Given the description of an element on the screen output the (x, y) to click on. 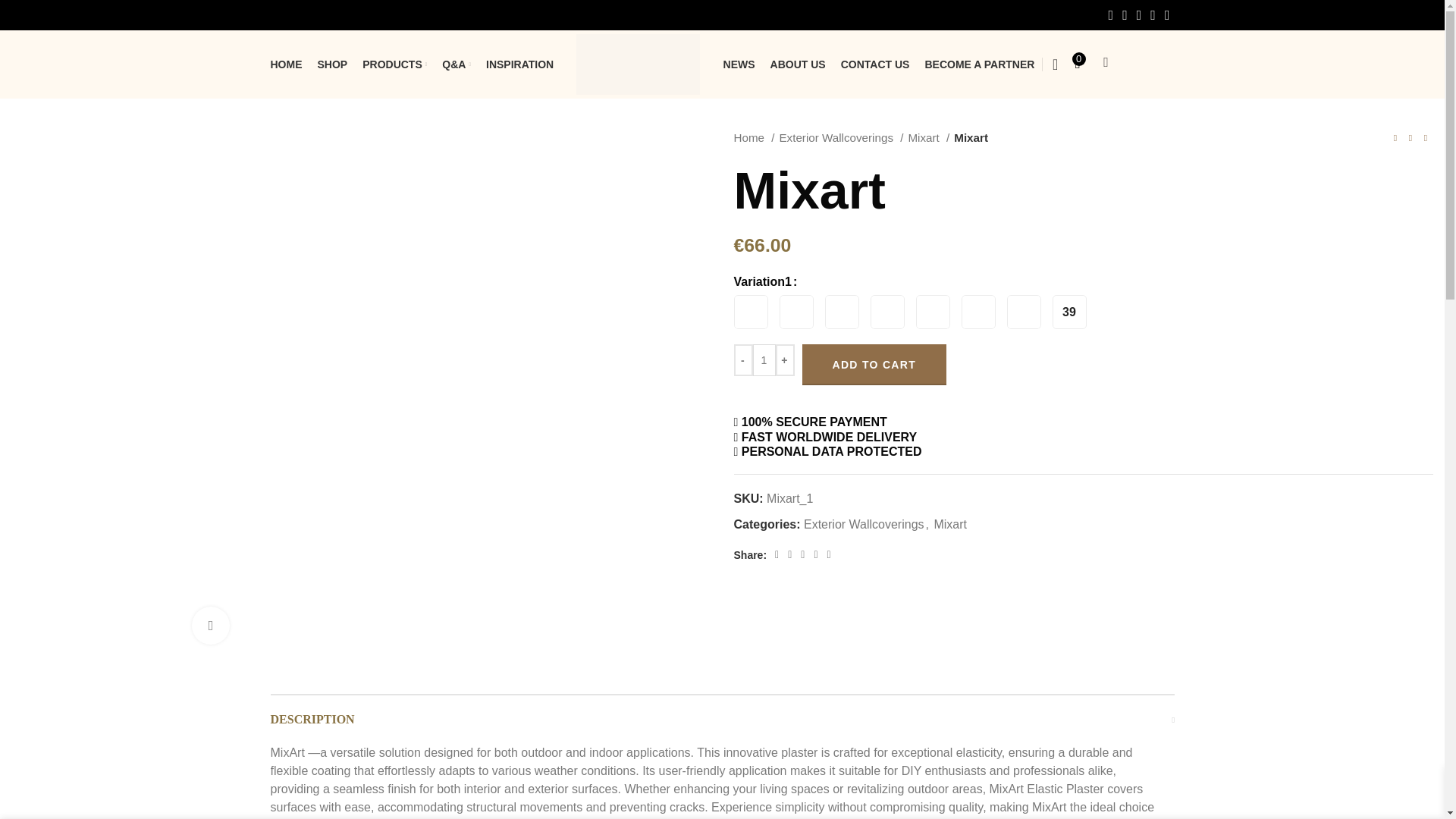
39 (1069, 311)
32 (977, 311)
023 (795, 311)
ABOUT US (797, 64)
HOME (285, 64)
BECOME A PARTNER (978, 64)
22 (842, 311)
NEWS (739, 64)
PRODUCTS (394, 64)
